Given the description of an element on the screen output the (x, y) to click on. 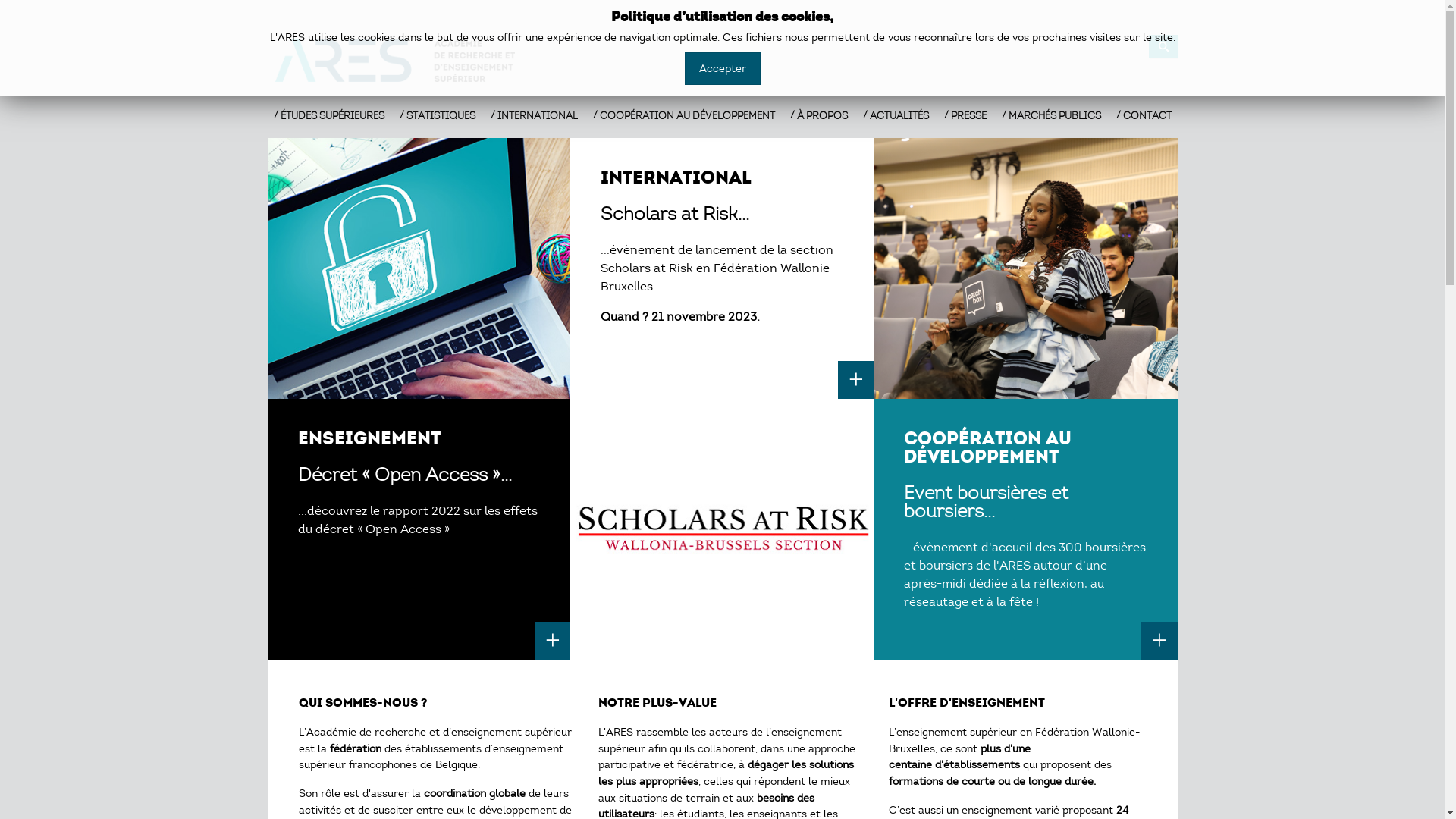
+ Element type: text (552, 640)
+ Element type: text (855, 379)
CONTACT Element type: text (1143, 115)
STATISTIQUES Element type: text (436, 115)
INTERNATIONAL Element type: text (533, 115)
PRESSE Element type: text (964, 115)
Ares-ac.be Element type: hover (404, 59)
+ Element type: text (1159, 640)
